Given the description of an element on the screen output the (x, y) to click on. 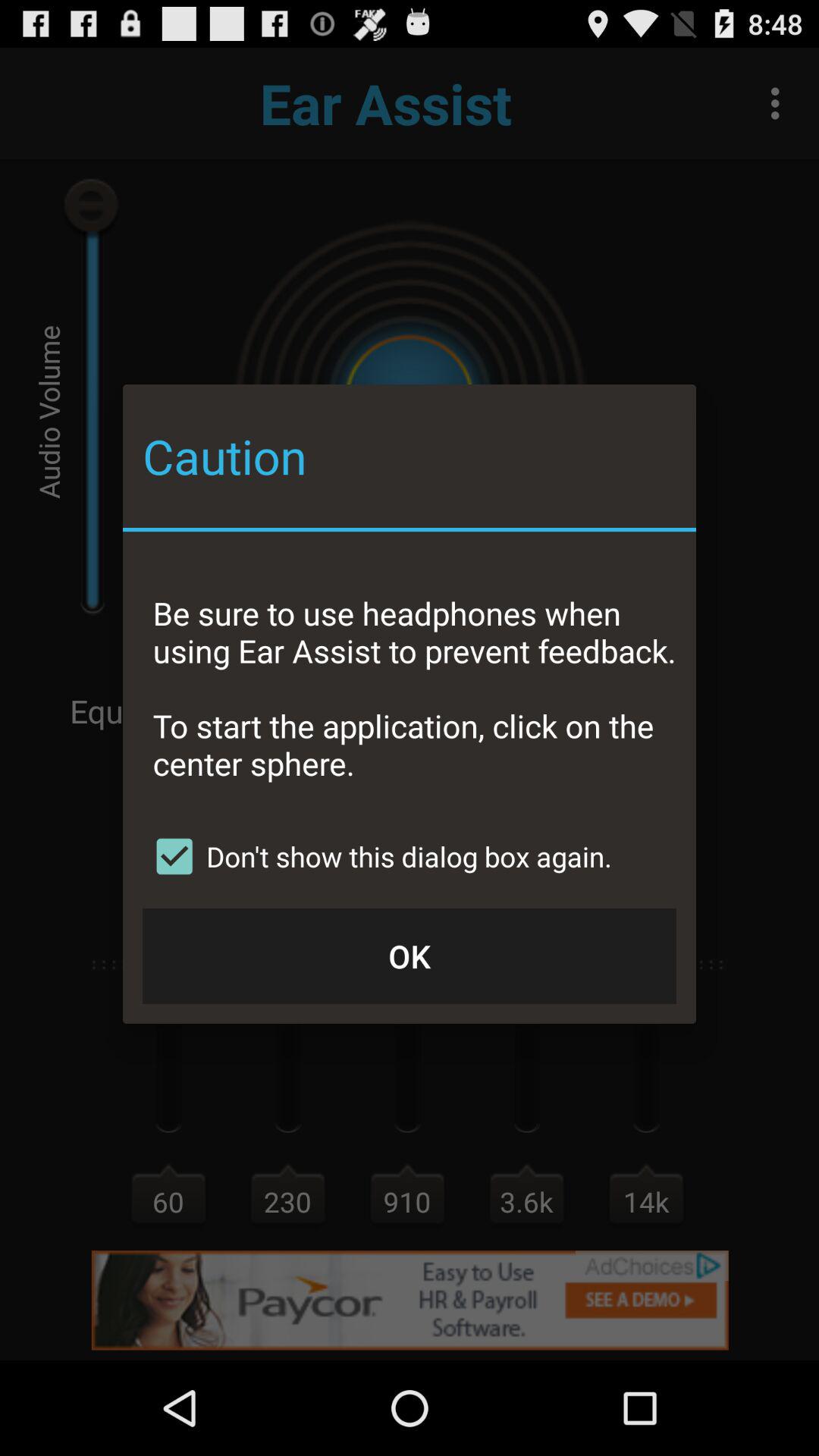
tap the ok item (409, 955)
